Given the description of an element on the screen output the (x, y) to click on. 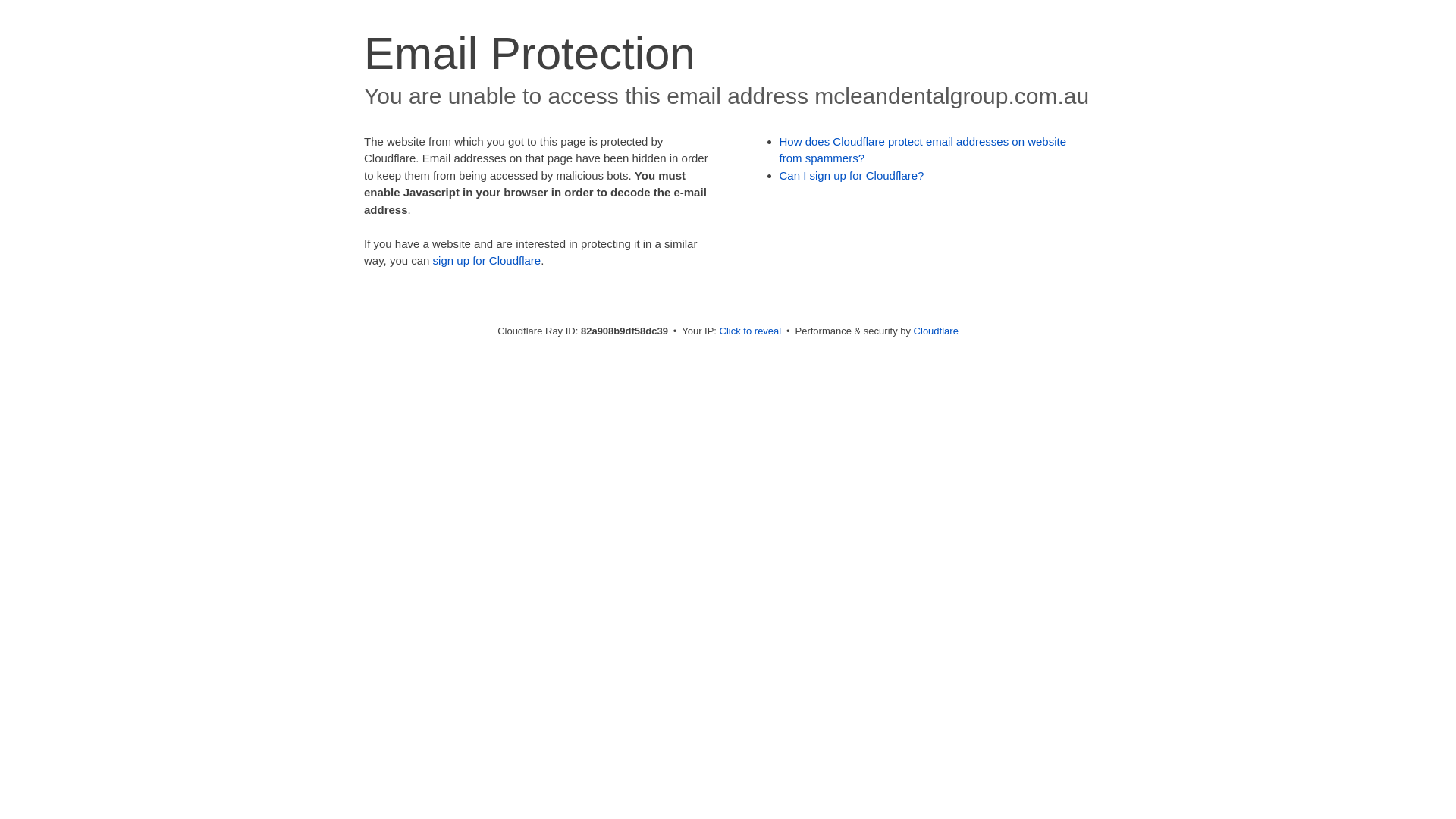
Click to reveal Element type: text (750, 330)
Cloudflare Element type: text (935, 330)
Can I sign up for Cloudflare? Element type: text (851, 175)
sign up for Cloudflare Element type: text (487, 260)
